Given the description of an element on the screen output the (x, y) to click on. 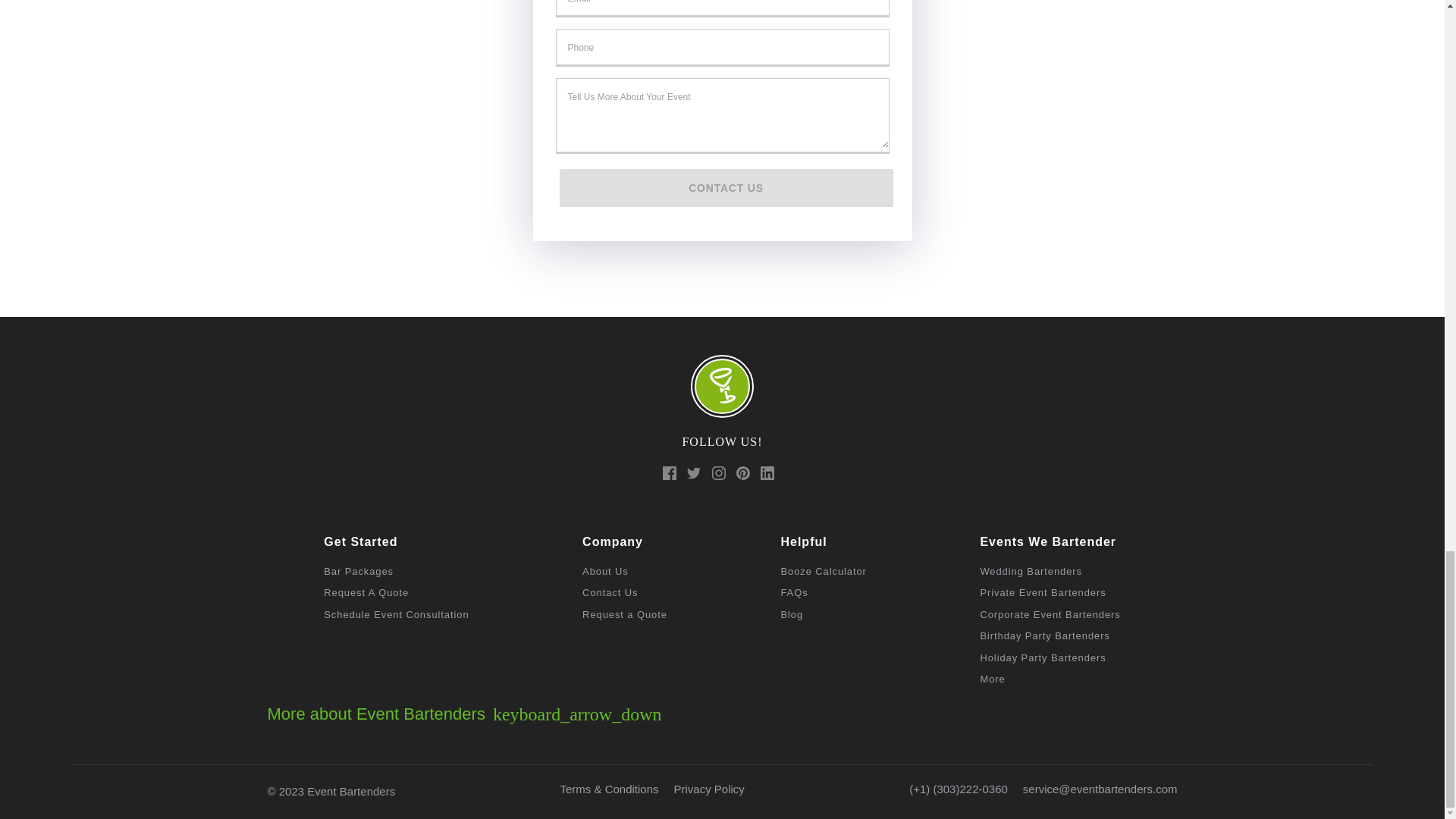
About Us (605, 571)
Birthday Party Bartenders (1044, 635)
Wedding Bartenders (1030, 571)
Booze Calculator (823, 571)
Instagram icon (719, 475)
Contact Us (609, 592)
Instagram icon (718, 472)
Request a Quote (624, 614)
Birthday Party Bartenders (1044, 635)
Request A Quote (366, 592)
Twitter icon (693, 475)
FAQs (791, 614)
LinkedIn icon (767, 475)
Facebook icon (670, 475)
FAQs (794, 592)
